Given the description of an element on the screen output the (x, y) to click on. 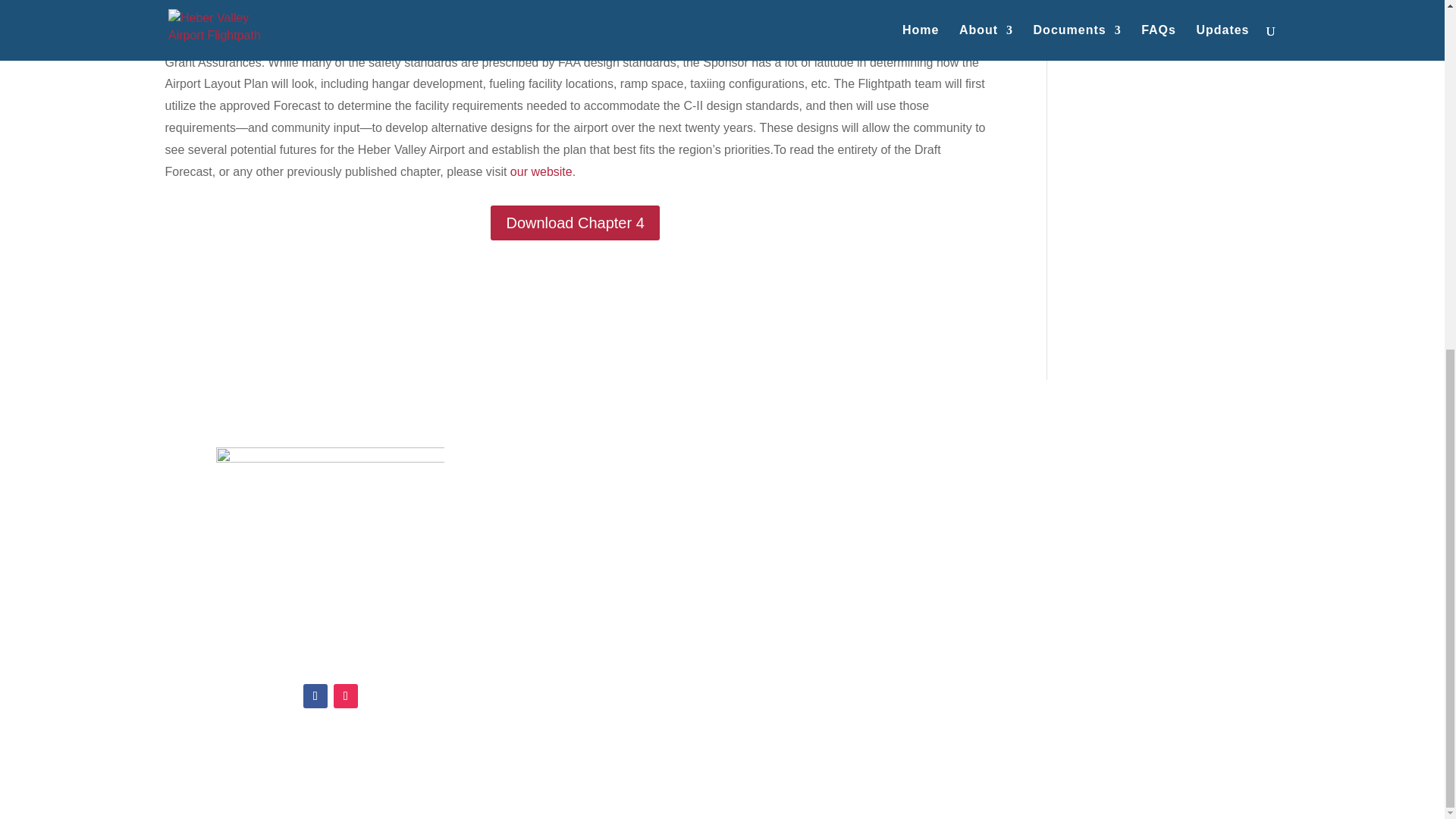
Frequently Asked Questions (721, 509)
our website (541, 171)
Events Calendar (722, 543)
hebervalleyflightpath.com (330, 651)
Download Chapter 4 (574, 222)
Documents (721, 577)
Follow on Facebook (314, 695)
Follow on Instagram (345, 695)
